Given the description of an element on the screen output the (x, y) to click on. 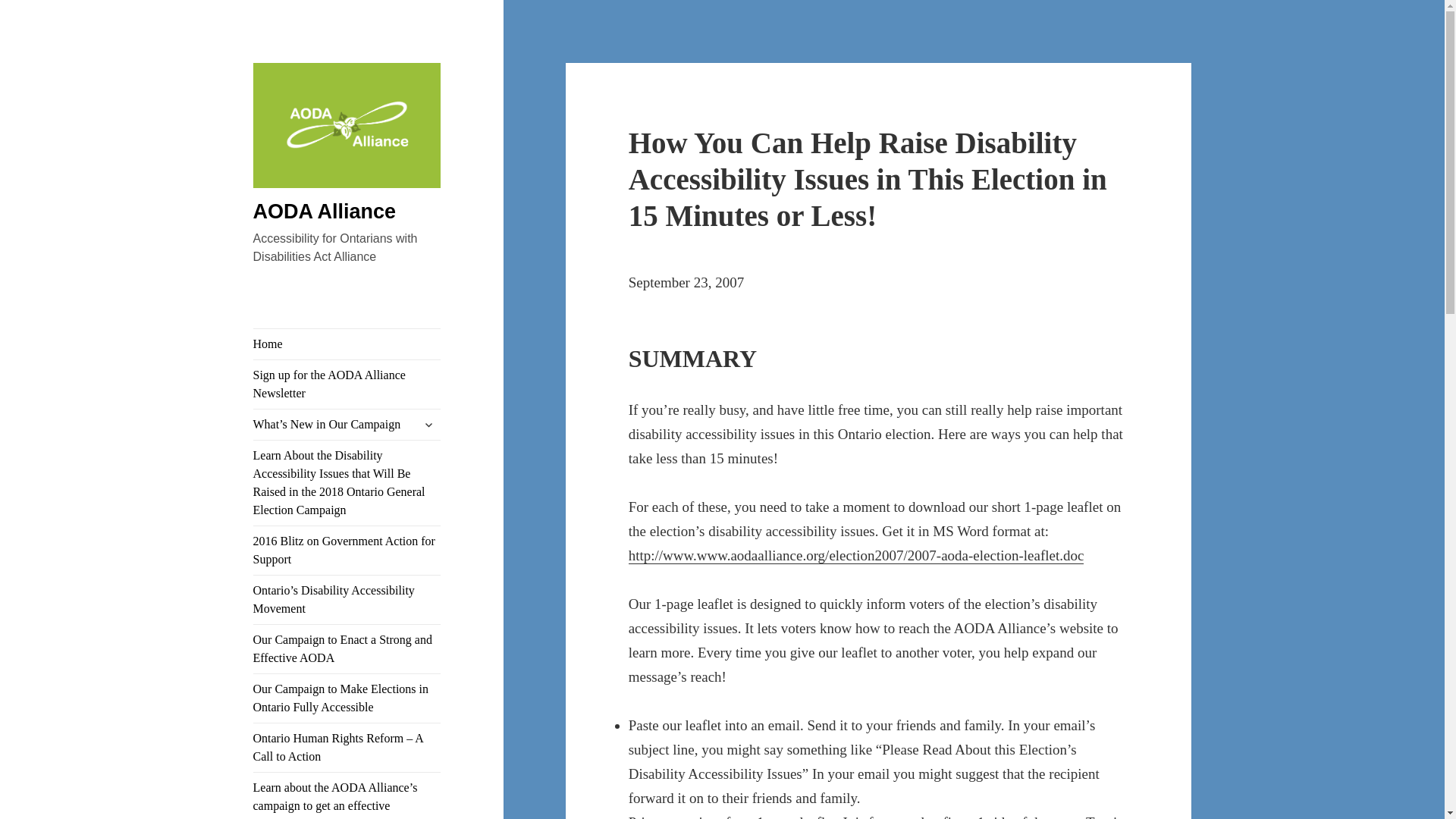
Home (347, 344)
2016 Blitz on Government Action for Support (347, 550)
Our Campaign to Make Elections in Ontario Fully Accessible (347, 698)
Sign up for the AODA Alliance Newsletter (347, 384)
Our Campaign to Enact a Strong and Effective AODA (347, 648)
AODA Alliance (347, 169)
expand child menu (428, 424)
